Given the description of an element on the screen output the (x, y) to click on. 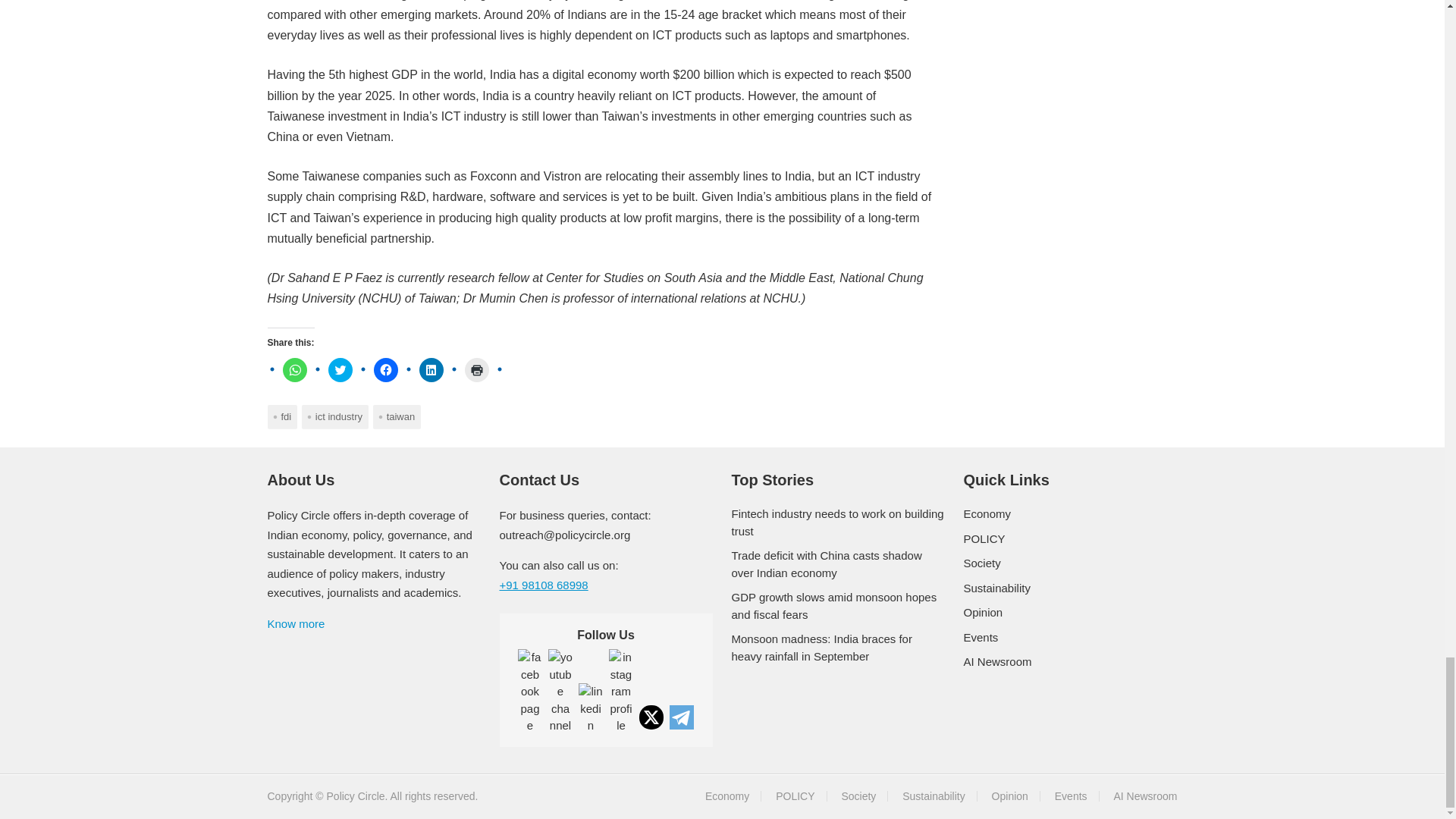
Click to share on Facebook (384, 369)
Click to share on LinkedIn (430, 369)
Click to share on WhatsApp (293, 369)
Click to print (475, 369)
Click to share on Twitter (339, 369)
